Given the description of an element on the screen output the (x, y) to click on. 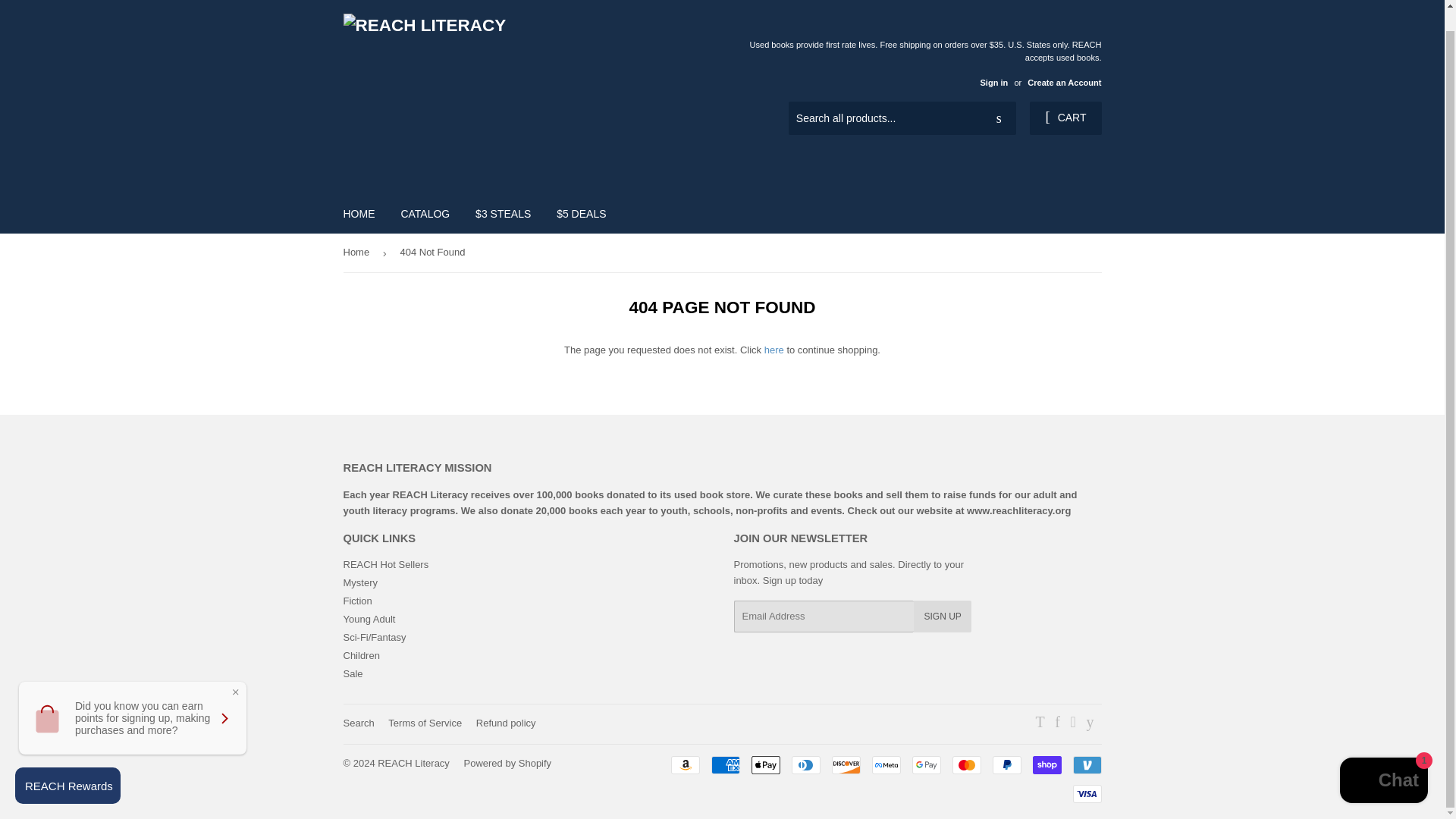
Diners Club (806, 764)
Terms of Service (424, 722)
Search (998, 119)
Search (358, 722)
Create an Account (1063, 81)
Discover (845, 764)
LoyaltyLion beacon (67, 764)
SIGN UP (942, 616)
Shopify online store chat (1383, 761)
Venmo (1085, 764)
Visa (1085, 793)
Google Pay (925, 764)
American Express (725, 764)
HOME (359, 213)
Mastercard (966, 764)
